Given the description of an element on the screen output the (x, y) to click on. 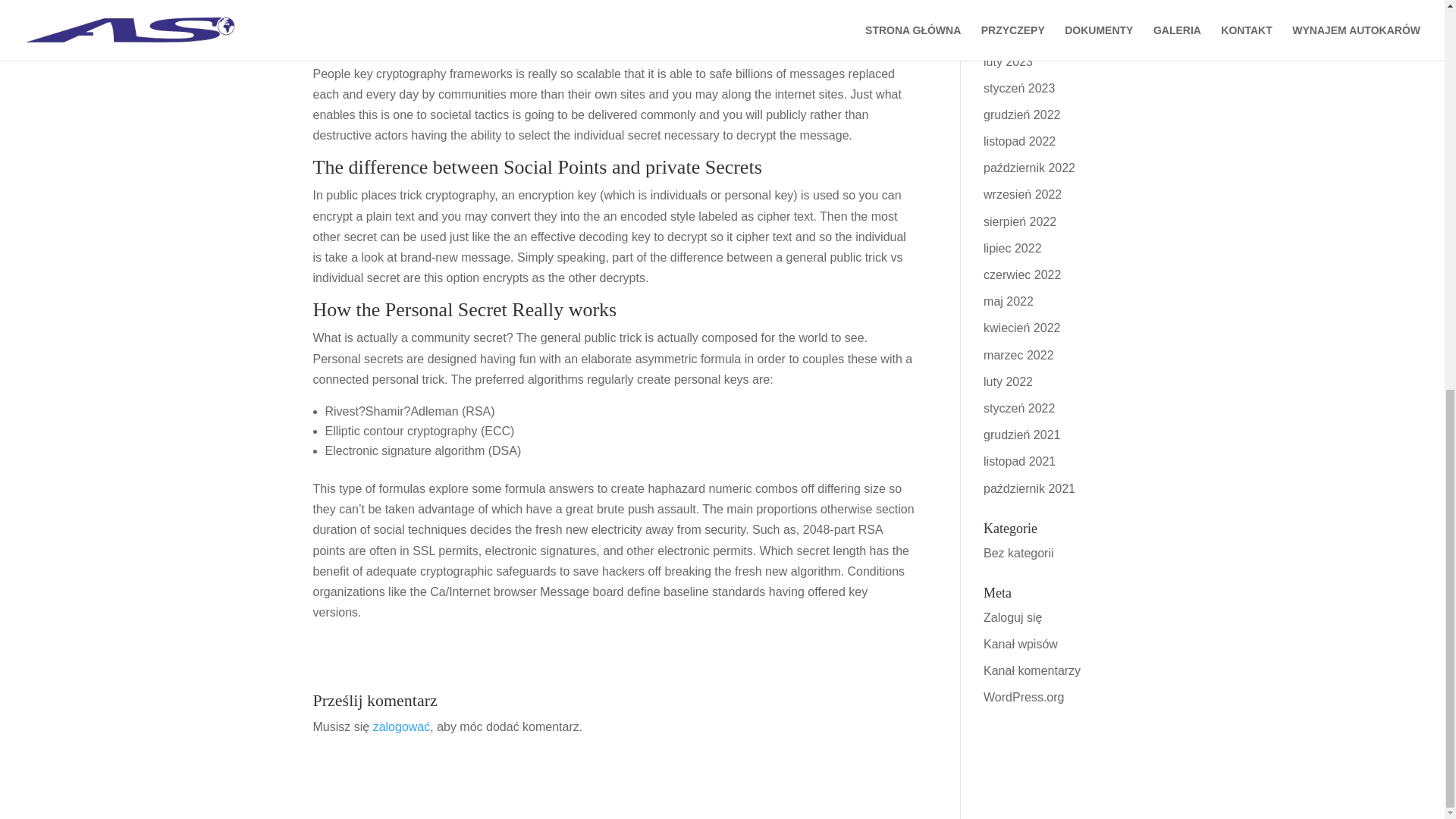
czerwiec 2022 (1022, 274)
listopad 2022 (1019, 141)
luty 2023 (1008, 61)
lipiec 2022 (1013, 247)
marzec 2023 (1019, 33)
luty 2022 (1008, 381)
maj 2022 (1008, 300)
marzec 2022 (1019, 354)
